Given the description of an element on the screen output the (x, y) to click on. 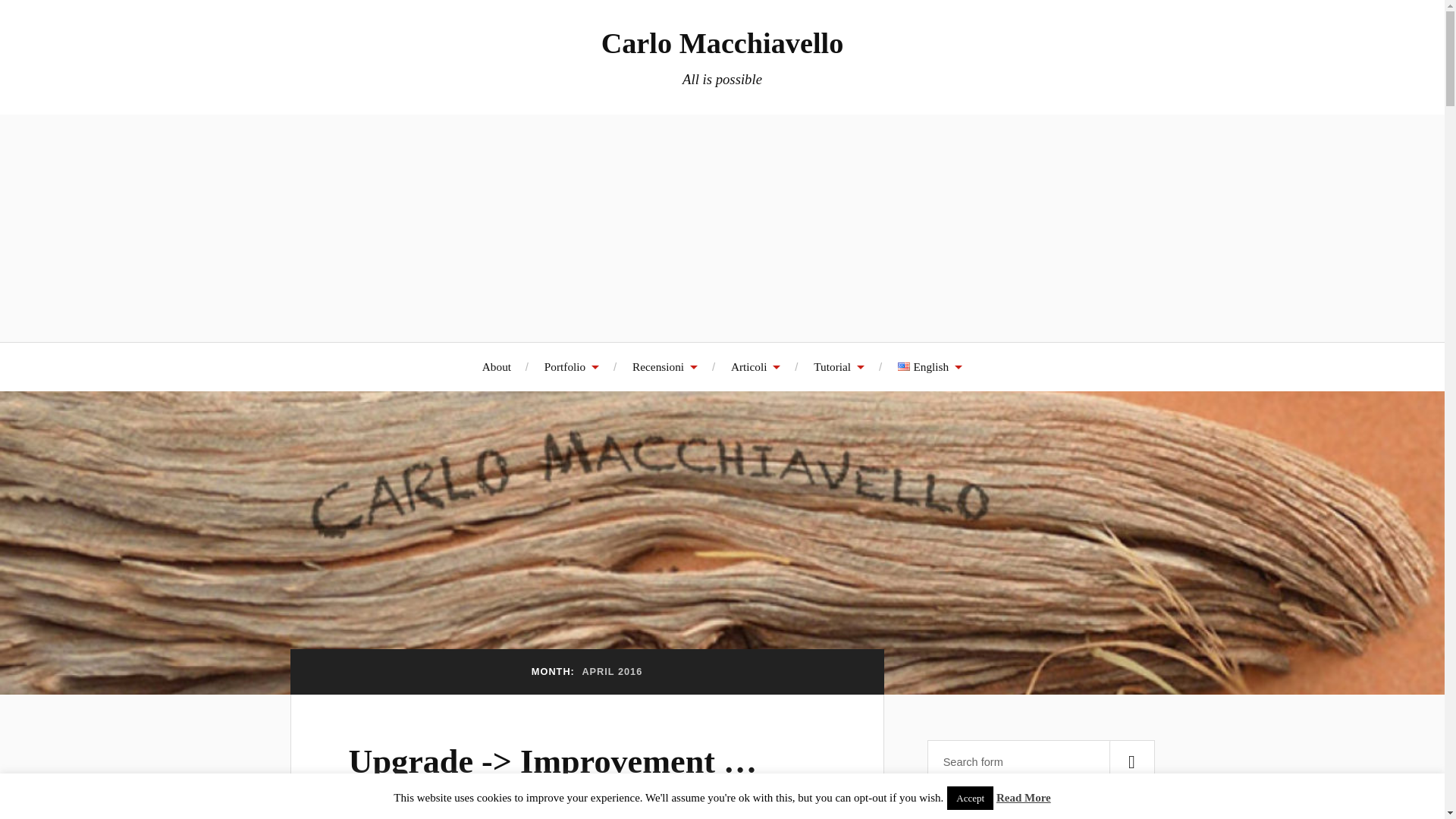
Carlo Macchiavello (722, 42)
About (496, 366)
Articoli (755, 366)
Portfolio (571, 366)
Recensioni (664, 366)
